Given the description of an element on the screen output the (x, y) to click on. 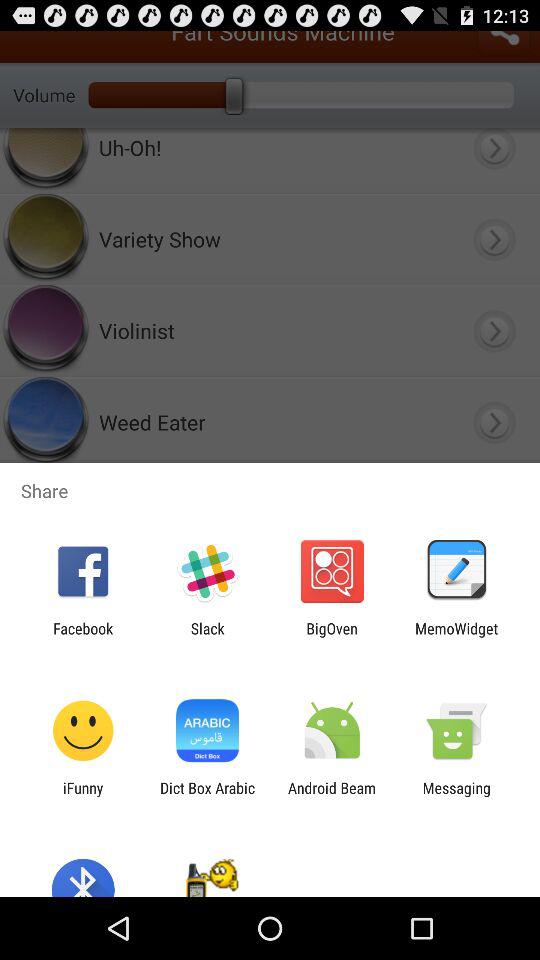
select icon to the right of ifunny app (207, 796)
